Given the description of an element on the screen output the (x, y) to click on. 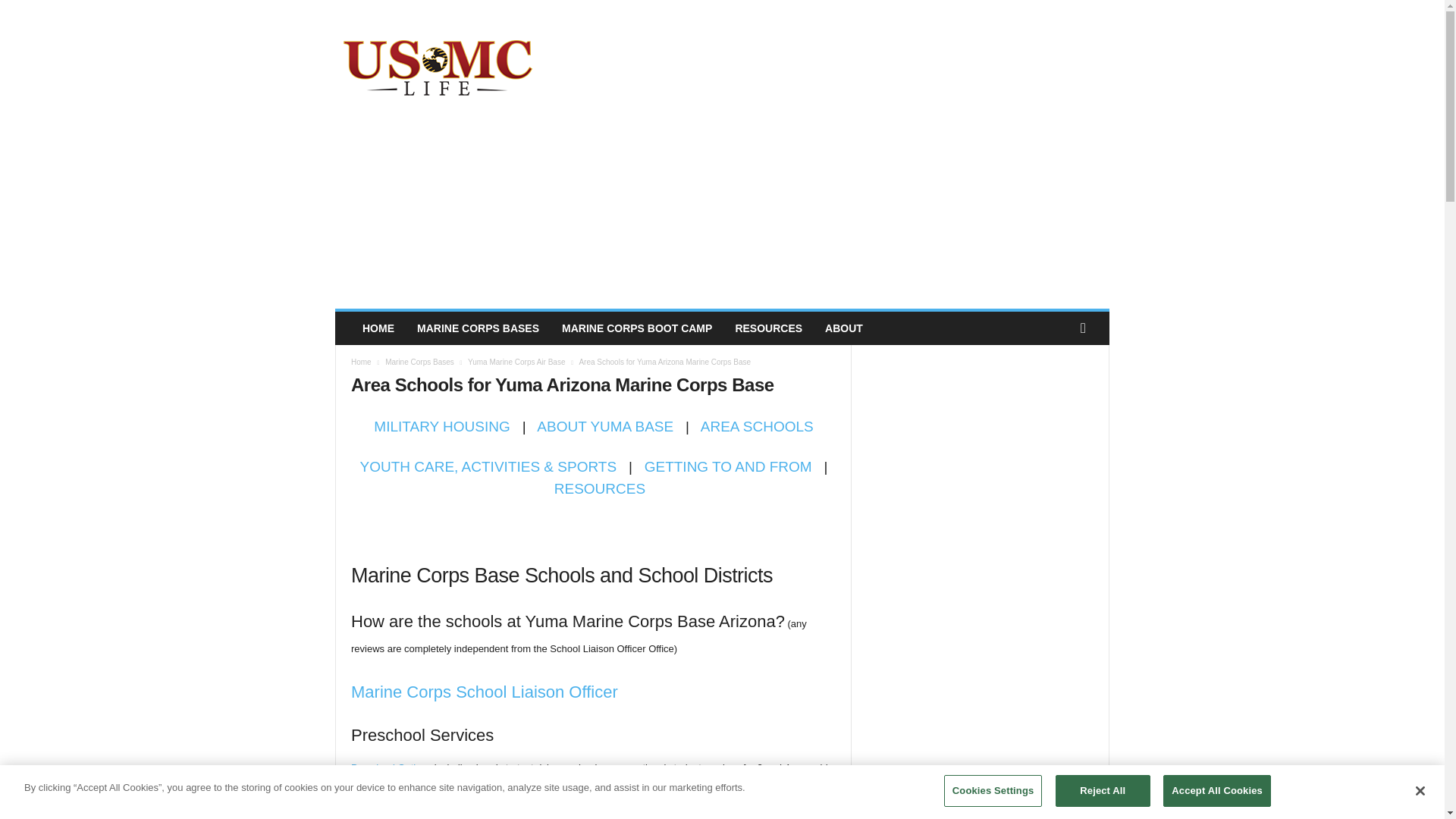
Home (360, 361)
Yuma Marine Corps Air Base (515, 361)
MILITARY HOUSING (441, 426)
RESOURCES (599, 488)
Preschool Options (390, 767)
ABOUT YUMA BASE (604, 426)
MARINE CORPS BOOT CAMP (636, 328)
GETTING TO AND FROM (728, 466)
AREA SCHOOLS (756, 426)
Yuma Marine Corps Air Base (515, 361)
Marine Corps Bases (419, 361)
ABOUT (844, 328)
USMC Life (437, 65)
Military Housing for Yuma Marine Corps Base Air Station (441, 426)
